Given the description of an element on the screen output the (x, y) to click on. 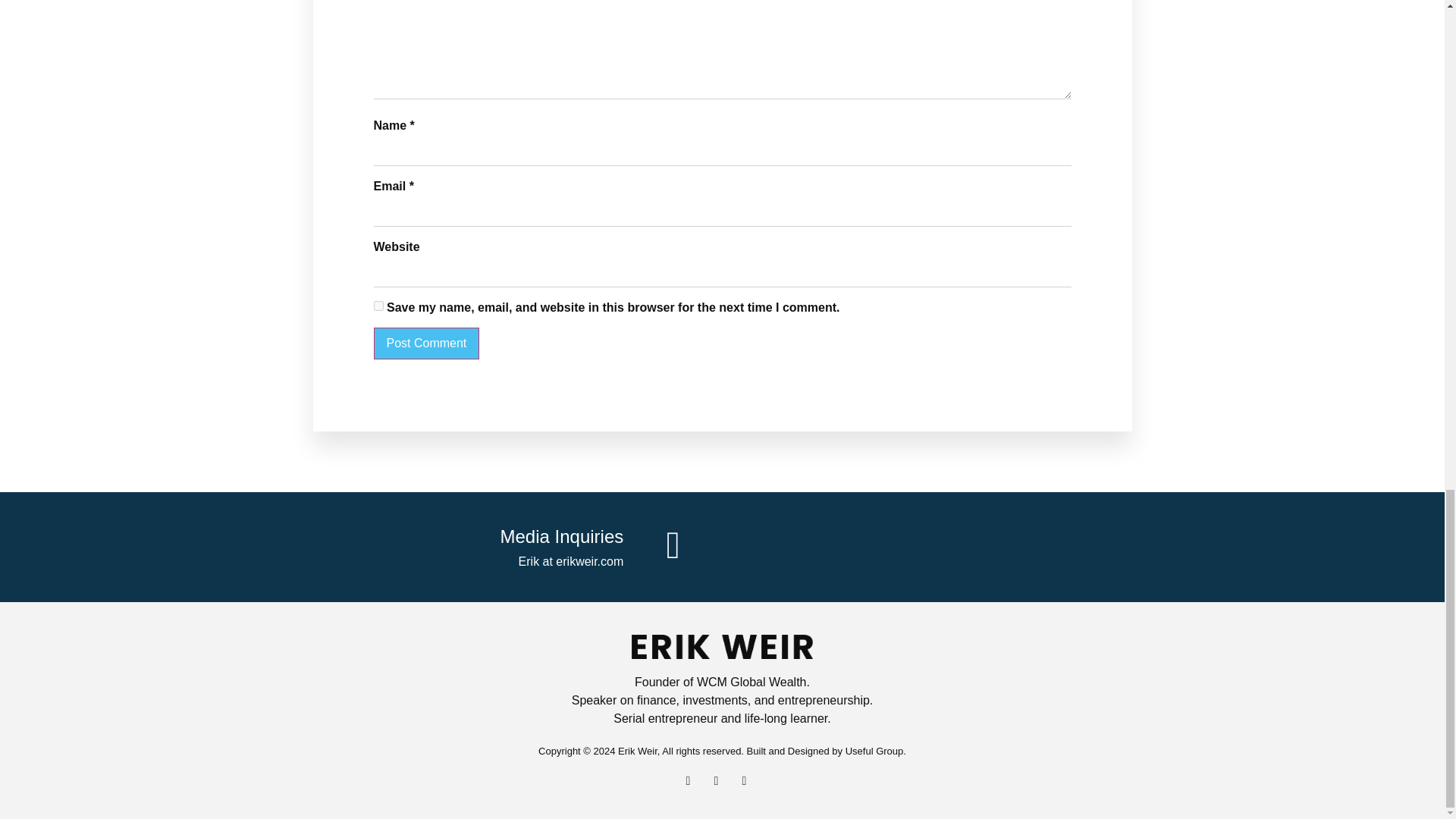
yes (377, 306)
Post Comment (425, 343)
Erik at erikweir.com (571, 561)
Post Comment (425, 343)
Media Inquiries (562, 536)
